Given the description of an element on the screen output the (x, y) to click on. 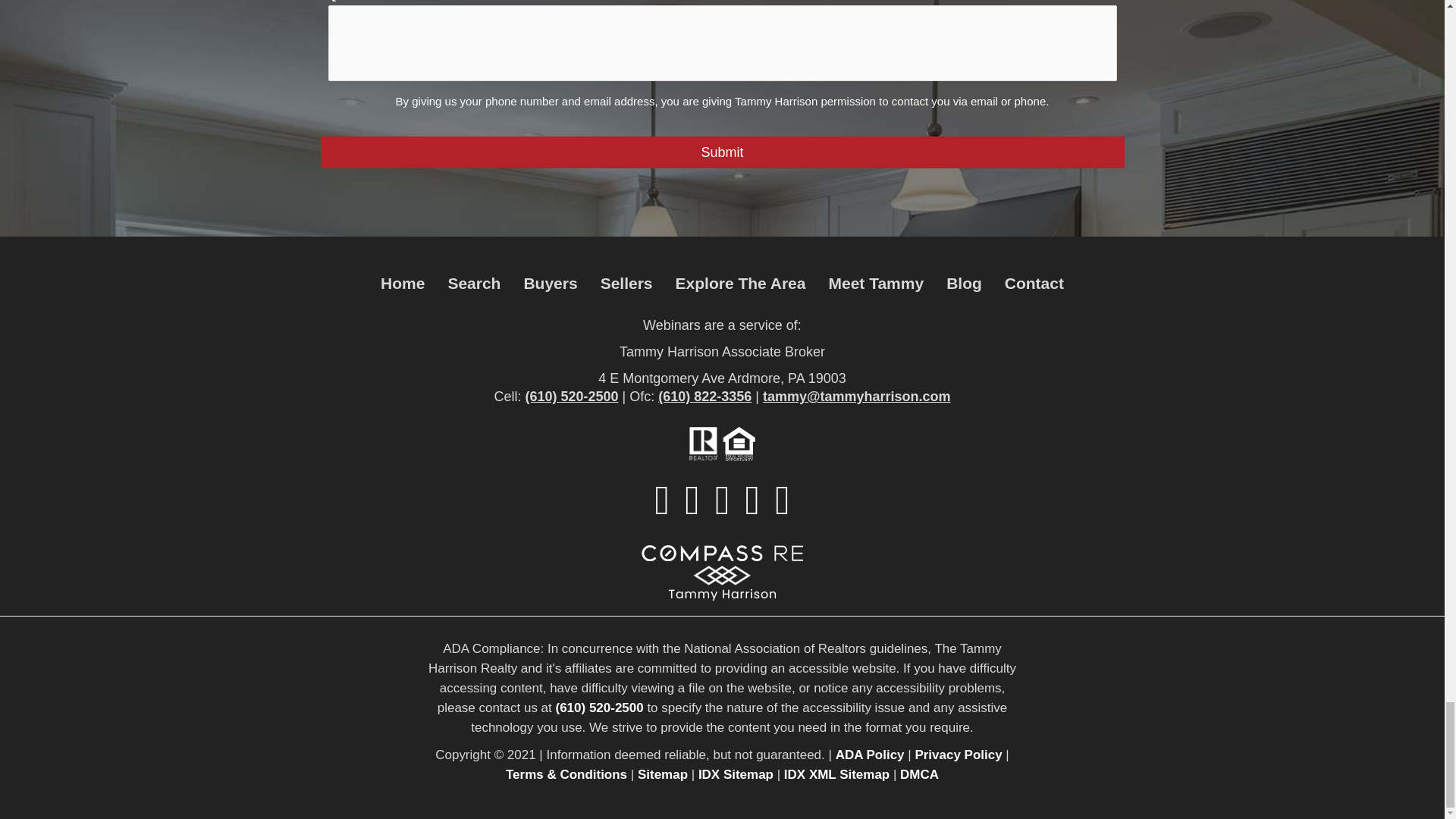
Submit (722, 152)
